Given the description of an element on the screen output the (x, y) to click on. 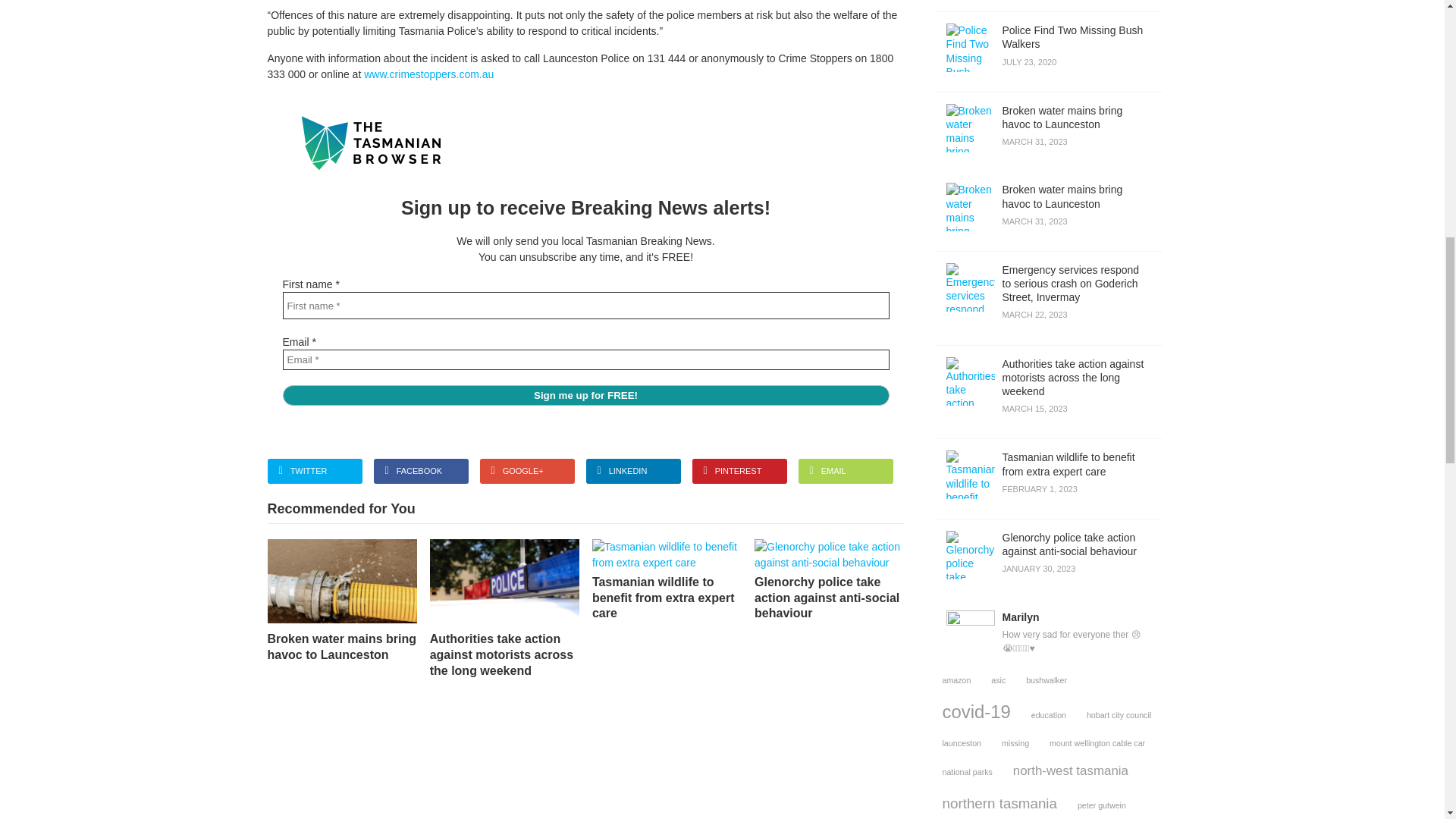
LINKEDIN (632, 471)
Sign me up for FREE! (1047, 51)
Broken water mains bring havoc to Launceston (585, 394)
Tasmanian wildlife to benefit from extra expert care (341, 600)
FACEBOOK (666, 579)
Glenorchy police take action against anti-social behaviour (419, 471)
First name (829, 579)
